Given the description of an element on the screen output the (x, y) to click on. 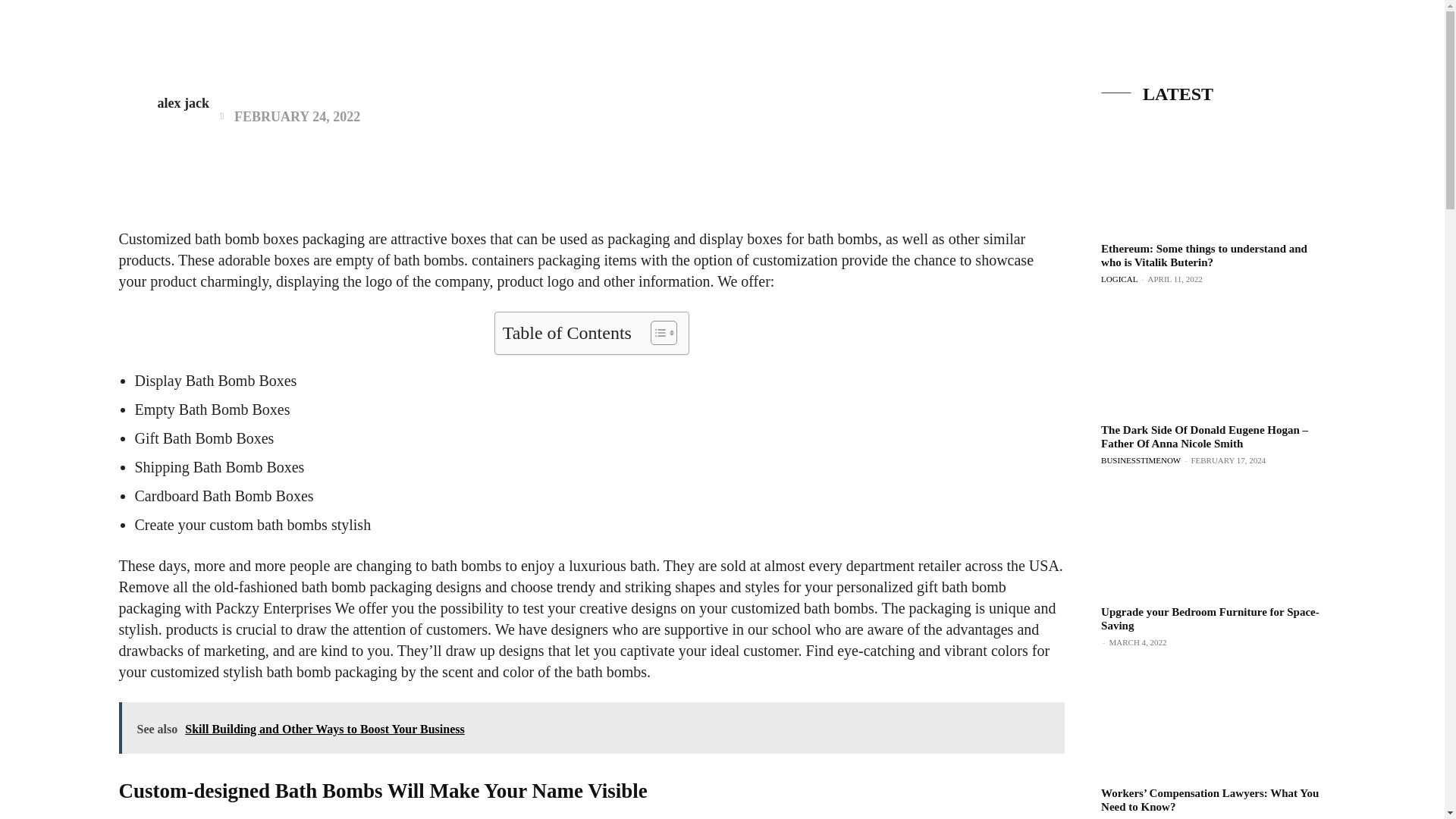
Lifestyle (1051, 40)
Net worth (789, 40)
Businesstimenow (107, 36)
General (1120, 40)
Home Decor (1244, 40)
Linkedin (1380, 58)
Businesstimenow (107, 36)
Entertainment (879, 40)
Law (1175, 40)
Business (715, 40)
RSS (1408, 58)
Technology (973, 40)
Facebook (1353, 58)
